Given the description of an element on the screen output the (x, y) to click on. 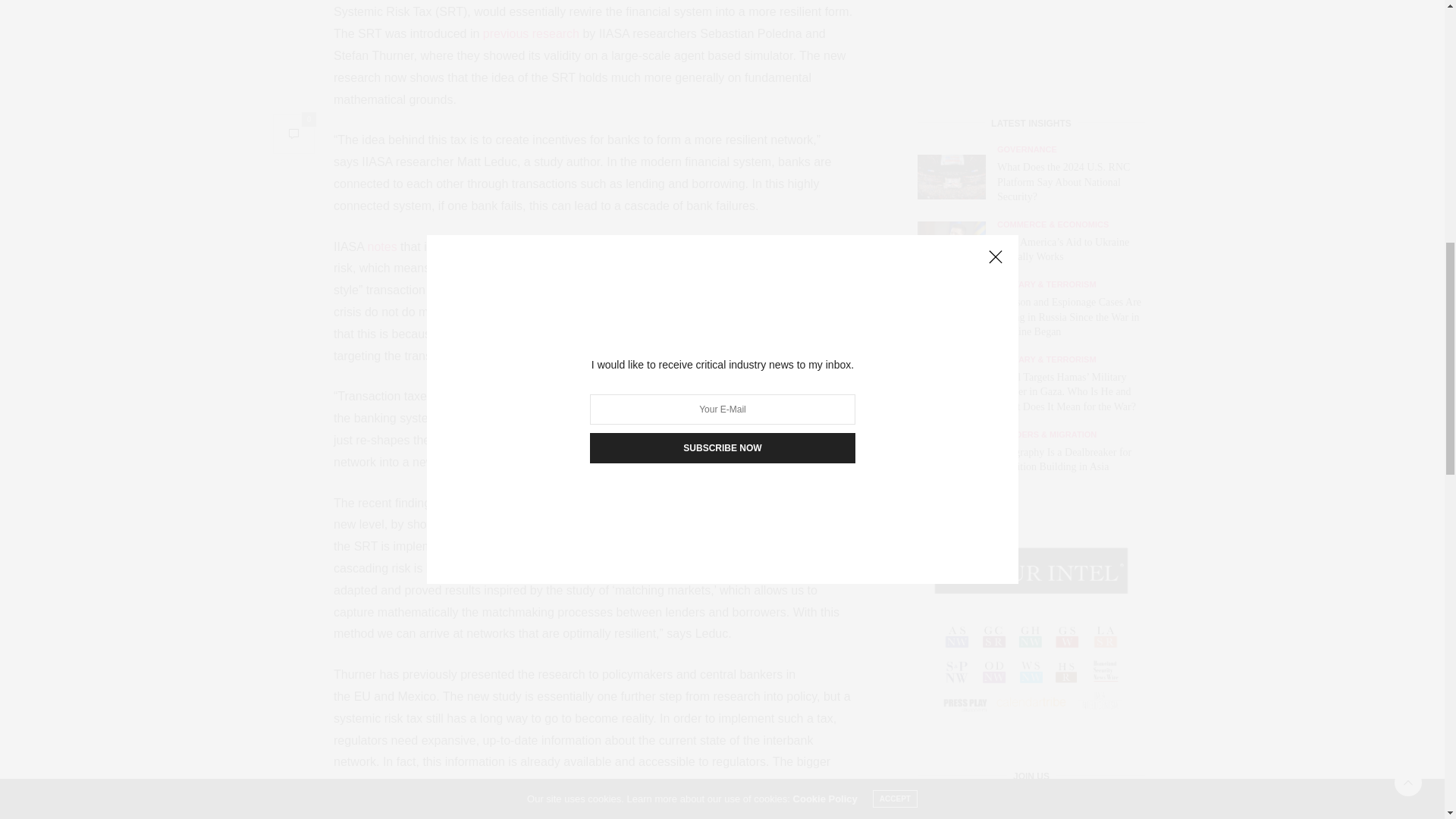
previous research (531, 33)
SUBMIT (1030, 714)
SUBSCRIBE (1030, 253)
previous research (699, 311)
notes (381, 246)
